Given the description of an element on the screen output the (x, y) to click on. 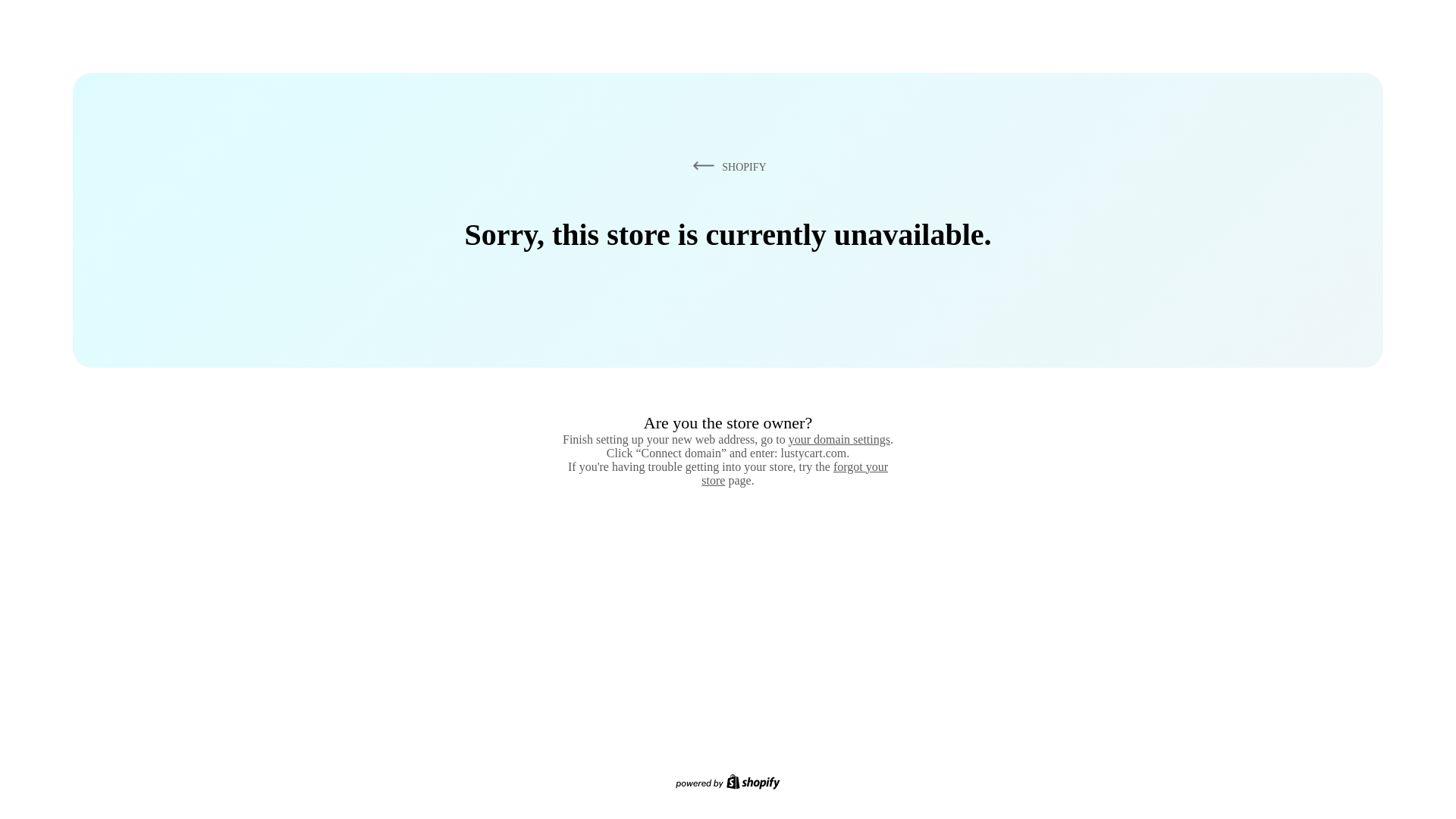
SHOPIFY (726, 166)
your domain settings (839, 439)
forgot your store (794, 473)
